Given the description of an element on the screen output the (x, y) to click on. 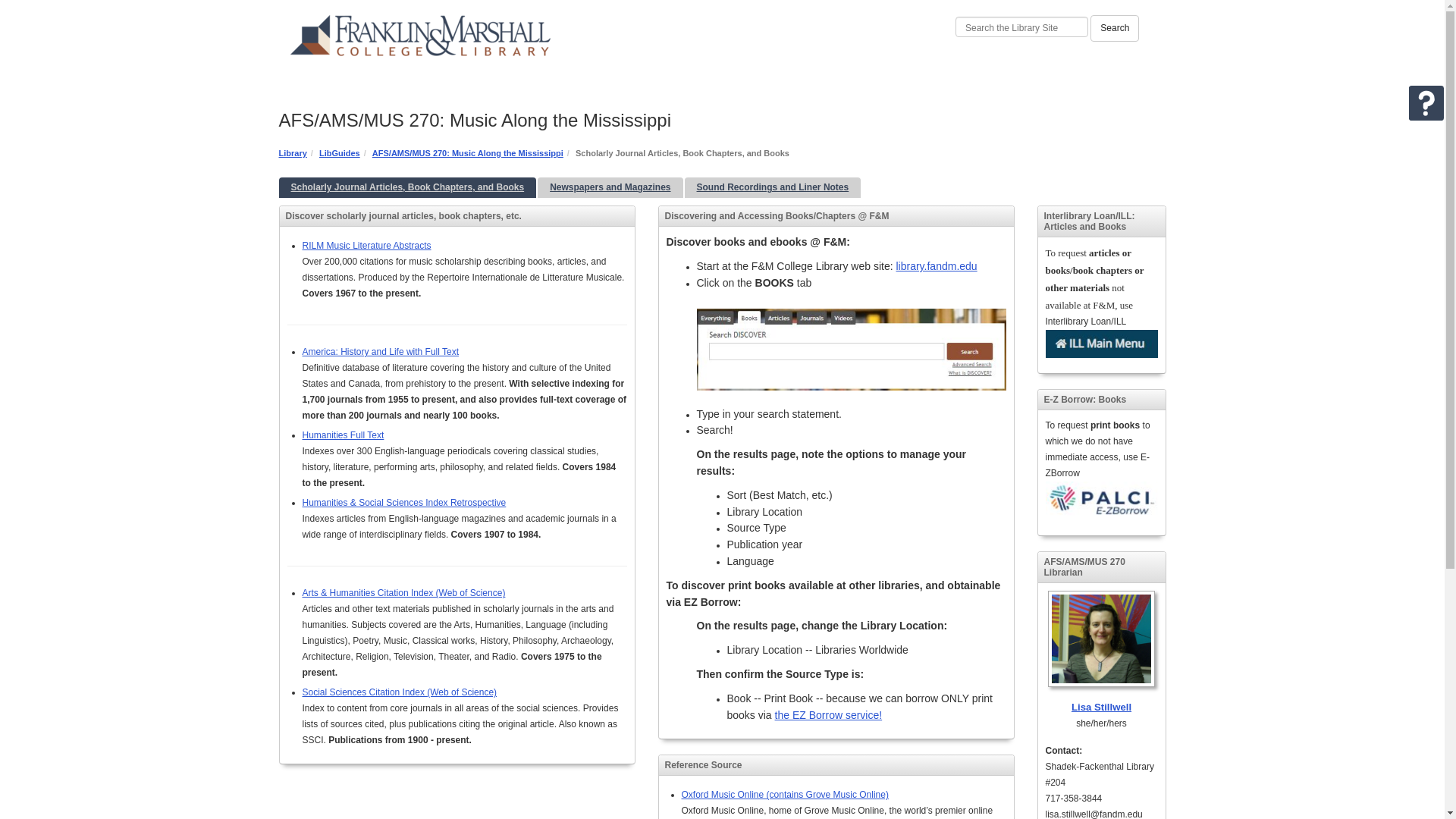
Newspapers and Magazines (609, 187)
library home (611, 43)
Scholarly Journal Articles, Book Chapters, and Books (408, 187)
the EZ Borrow service! (828, 715)
America: History and Life with Full Text (379, 351)
Library (293, 153)
library.fandm.edu (936, 265)
Lisa Stillwell (1101, 652)
Search (1114, 28)
LibGuides (338, 153)
Sound Recordings and Liner Notes (772, 187)
Humanities Full Text (342, 434)
RILM Music Literature Abstracts (365, 245)
